Given the description of an element on the screen output the (x, y) to click on. 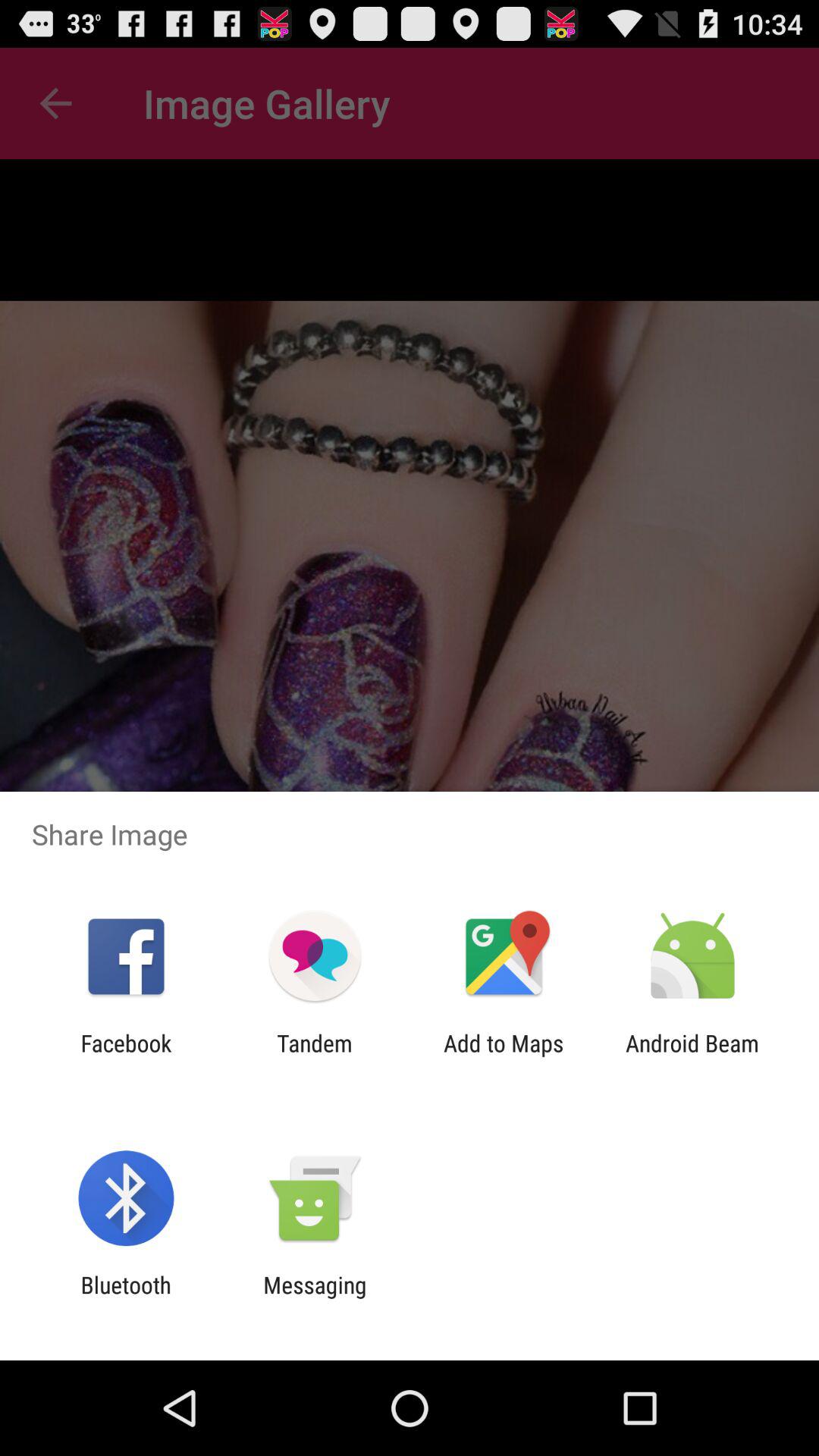
jump to the messaging item (314, 1298)
